Given the description of an element on the screen output the (x, y) to click on. 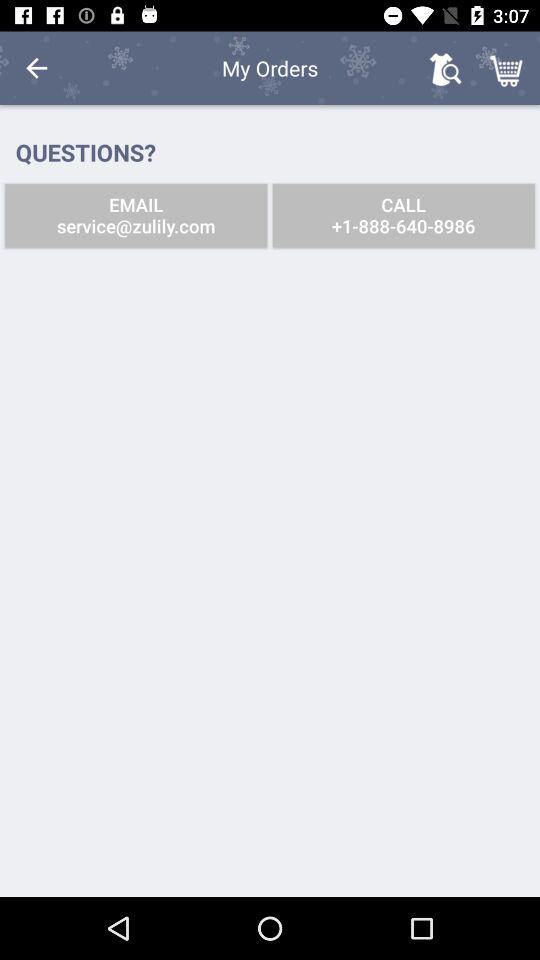
tap icon next to the email service zulily (403, 215)
